Given the description of an element on the screen output the (x, y) to click on. 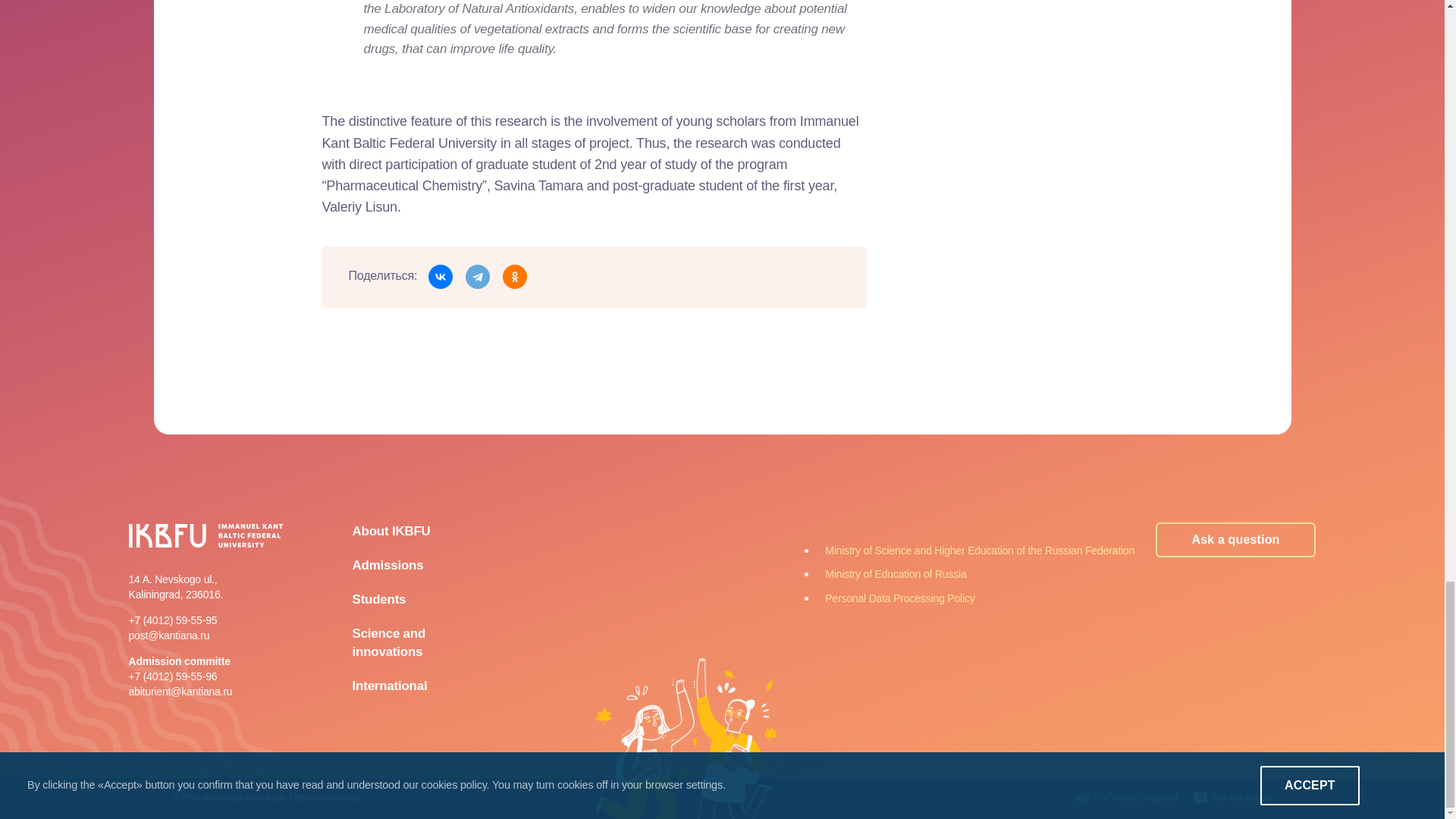
Telegram (477, 276)
